Given the description of an element on the screen output the (x, y) to click on. 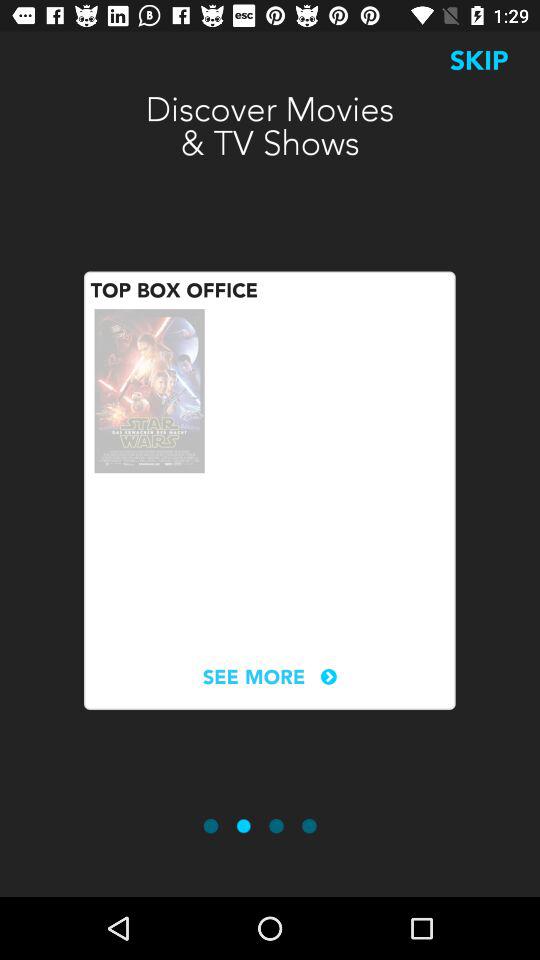
click the skip icon (479, 60)
